Given the description of an element on the screen output the (x, y) to click on. 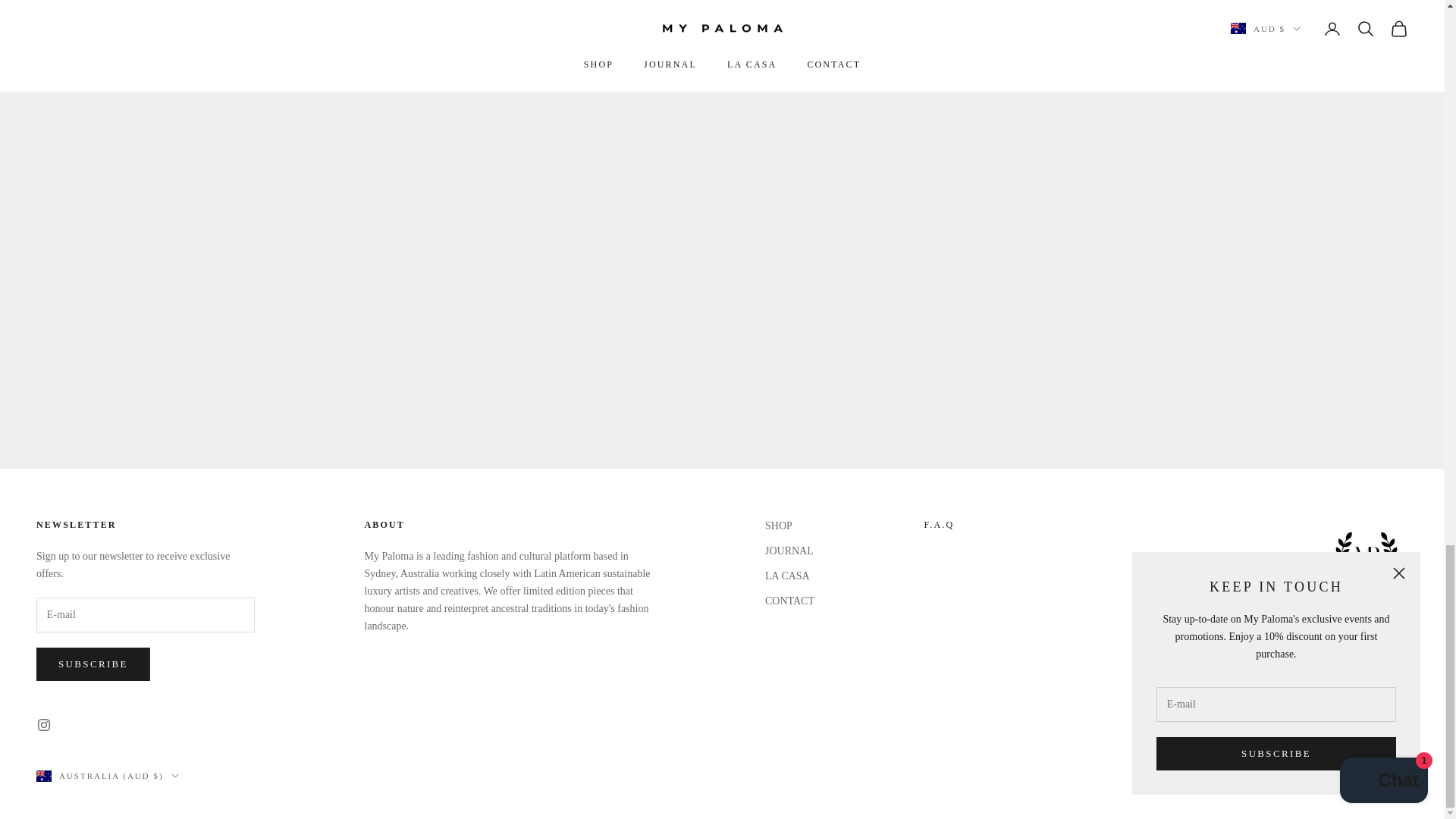
CONTACT (938, 524)
